Given the description of an element on the screen output the (x, y) to click on. 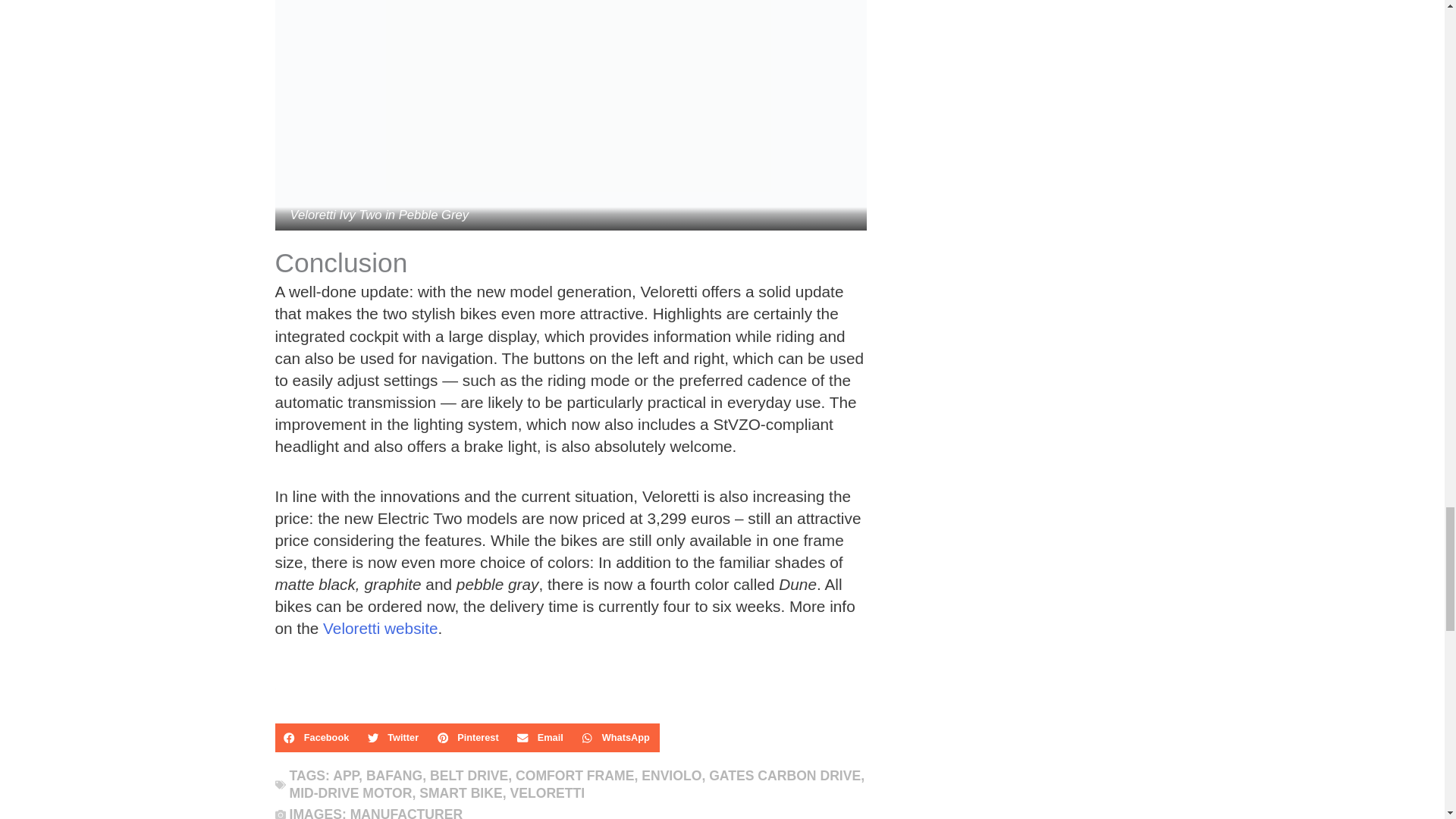
Veloretti website (380, 628)
APP (345, 775)
MID-DRIVE MOTOR (350, 792)
GATES CARBON DRIVE (784, 775)
COMFORT FRAME (574, 775)
BELT DRIVE (468, 775)
ENVIOLO (671, 775)
BAFANG (394, 775)
